Given the description of an element on the screen output the (x, y) to click on. 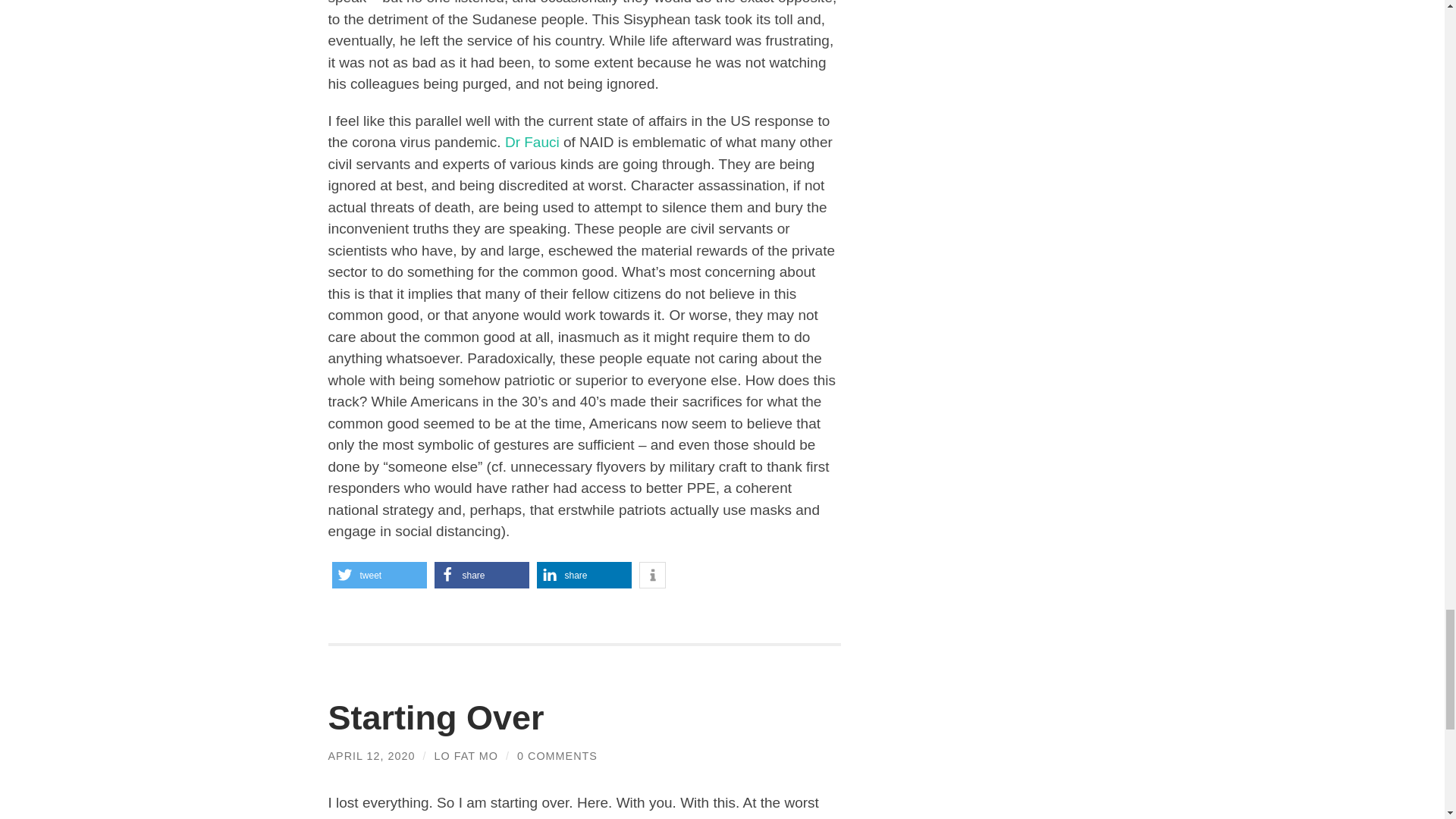
Starting Over (435, 717)
Dr Fauci (532, 141)
Posts by Lo Fat Mo (465, 756)
More information (652, 574)
0 COMMENTS (556, 756)
LO FAT MO (465, 756)
APRIL 12, 2020 (370, 756)
Share on LinkedIn (584, 574)
share  (584, 574)
share  (480, 574)
